Given the description of an element on the screen output the (x, y) to click on. 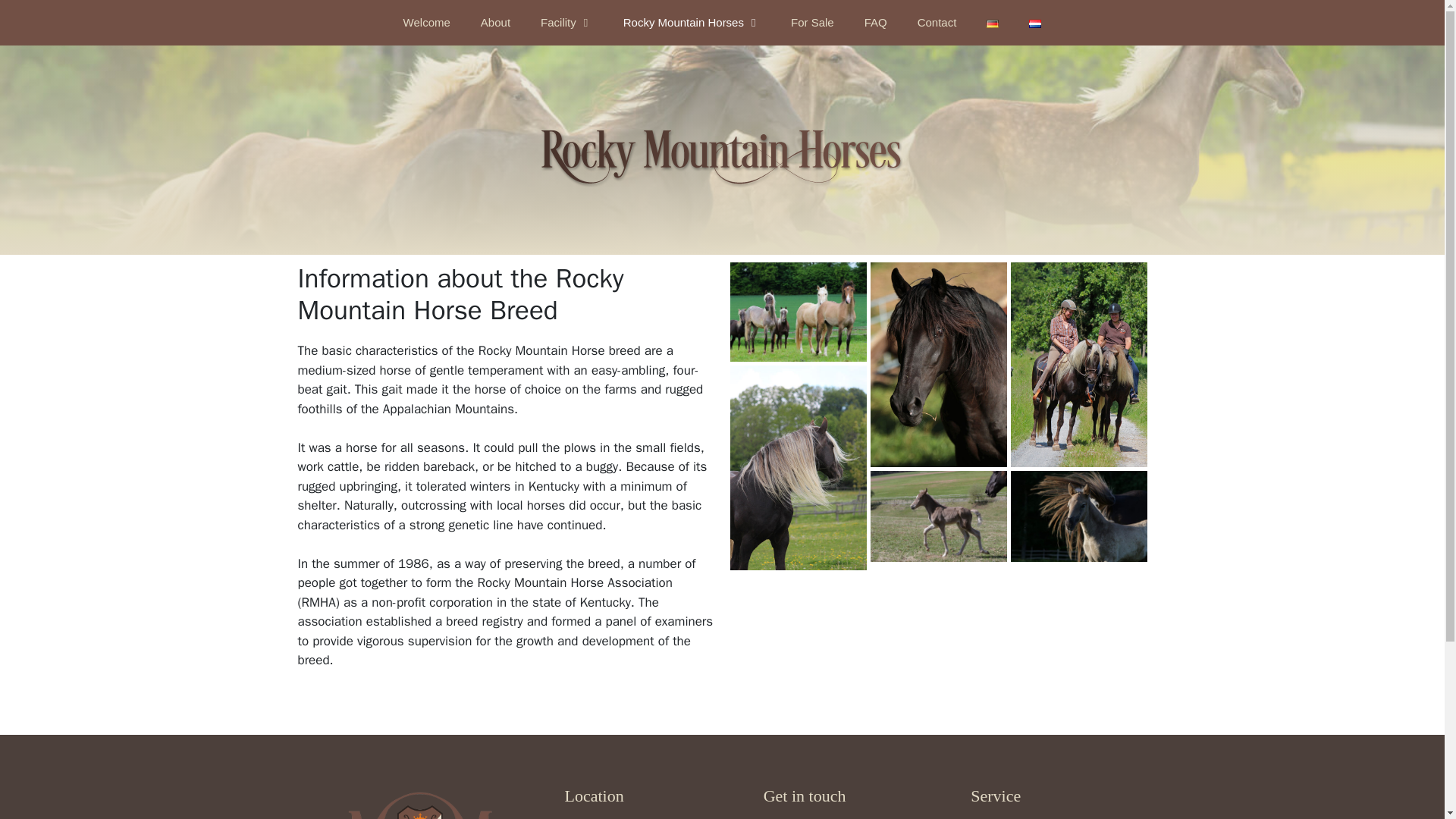
For Sale (812, 22)
Contact (937, 22)
Welcome (426, 22)
About (495, 22)
Rocky Mountain Horses (692, 22)
FAQ (875, 22)
Facility (566, 22)
